Given the description of an element on the screen output the (x, y) to click on. 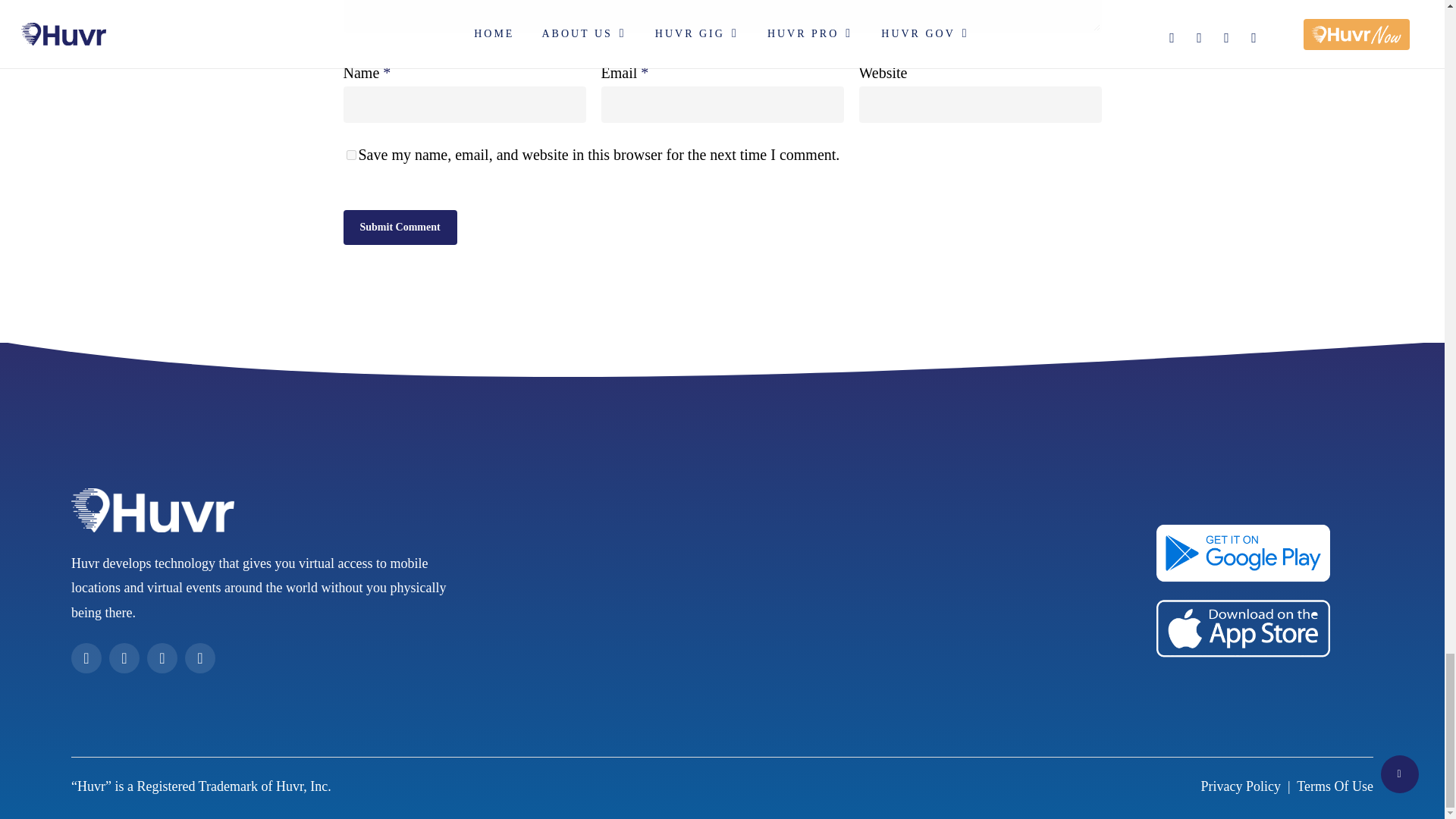
Submit Comment (399, 226)
yes (350, 154)
